Given the description of an element on the screen output the (x, y) to click on. 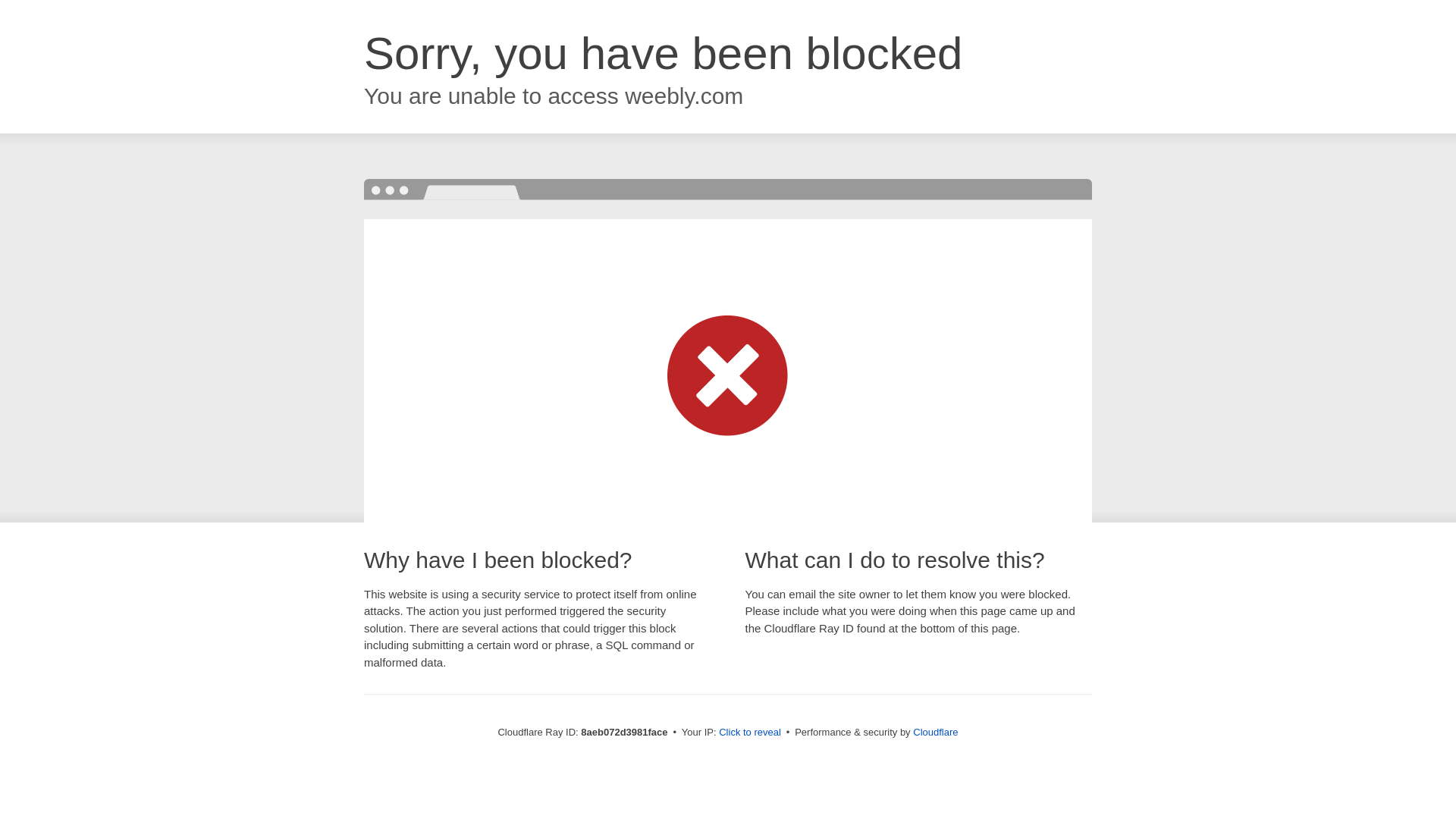
Click to reveal (749, 732)
Cloudflare (935, 731)
